Given the description of an element on the screen output the (x, y) to click on. 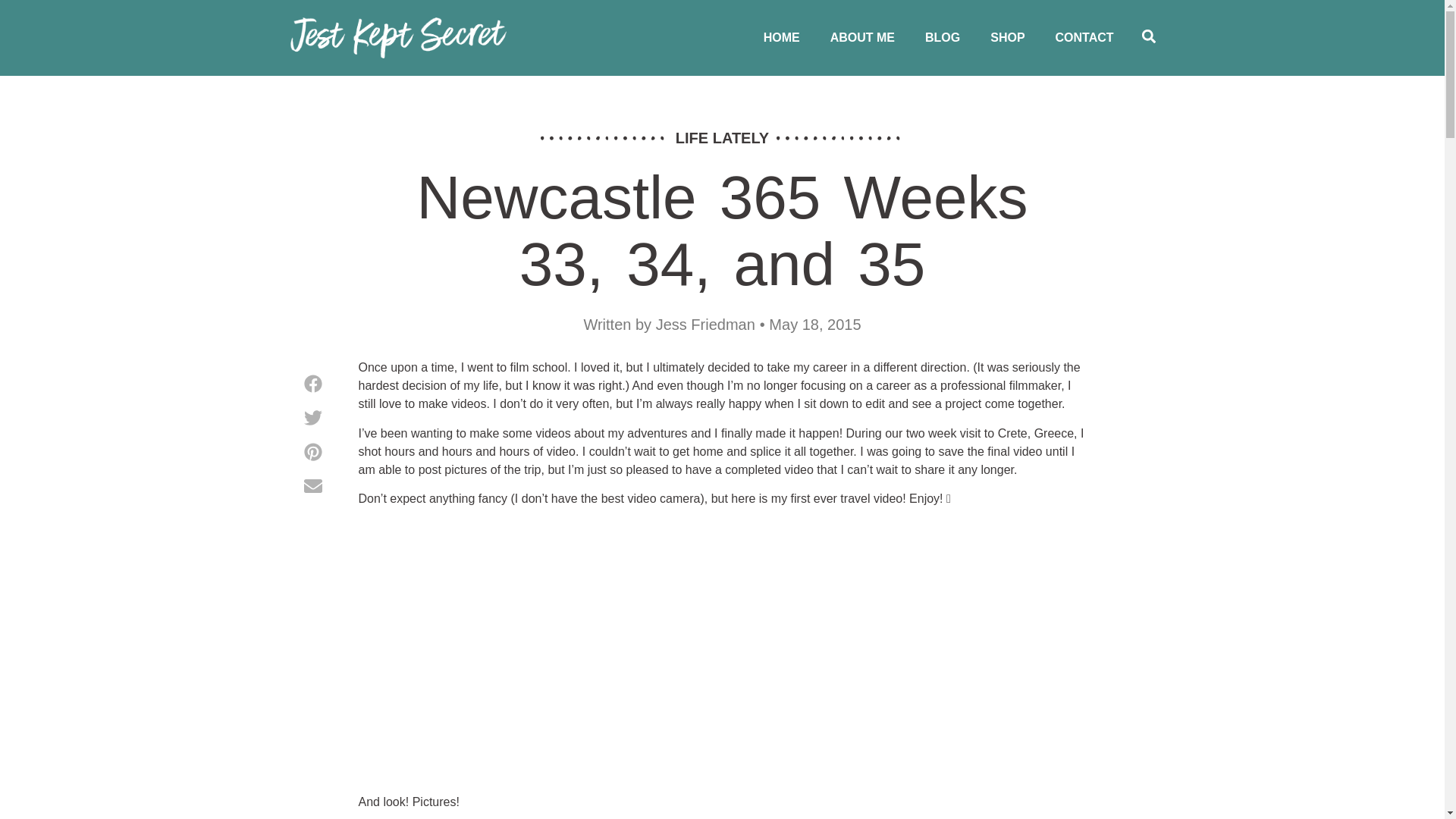
CONTACT (1085, 37)
SHOP (1007, 37)
BLOG (942, 37)
ABOUT ME (862, 37)
HOME (781, 37)
